Given the description of an element on the screen output the (x, y) to click on. 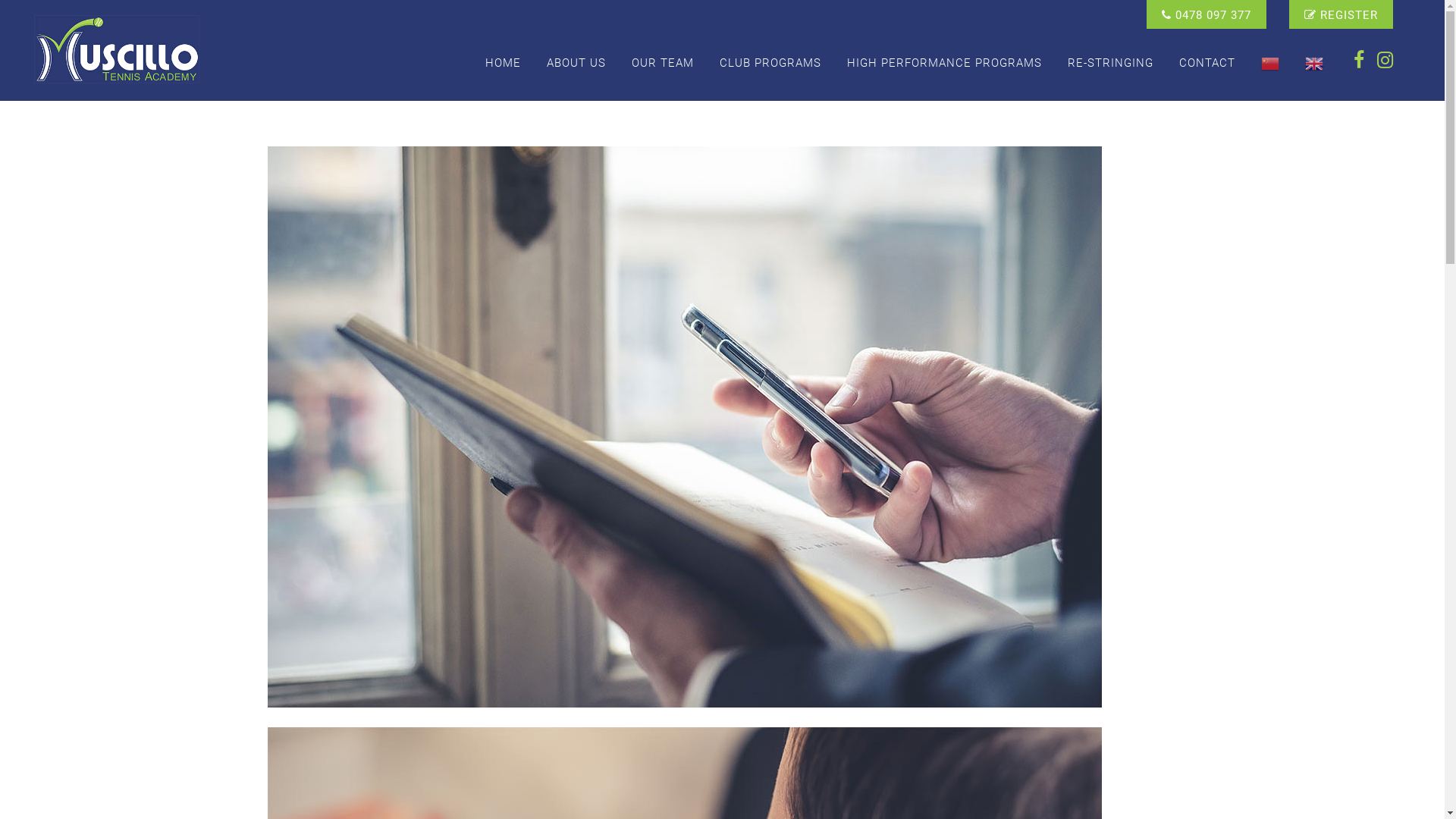
Chinese (Simplified) Element type: hover (1270, 62)
CLUB PROGRAMS Element type: text (770, 62)
HIGH PERFORMANCE PROGRAMS Element type: text (944, 62)
ABOUT US Element type: text (575, 62)
0478 097 377 Element type: text (1206, 14)
CONTACT Element type: text (1207, 62)
OUR TEAM Element type: text (662, 62)
REGISTER Element type: text (1341, 14)
HOME Element type: text (502, 62)
RE-STRINGING Element type: text (1110, 62)
English Element type: hover (1314, 62)
